Given the description of an element on the screen output the (x, y) to click on. 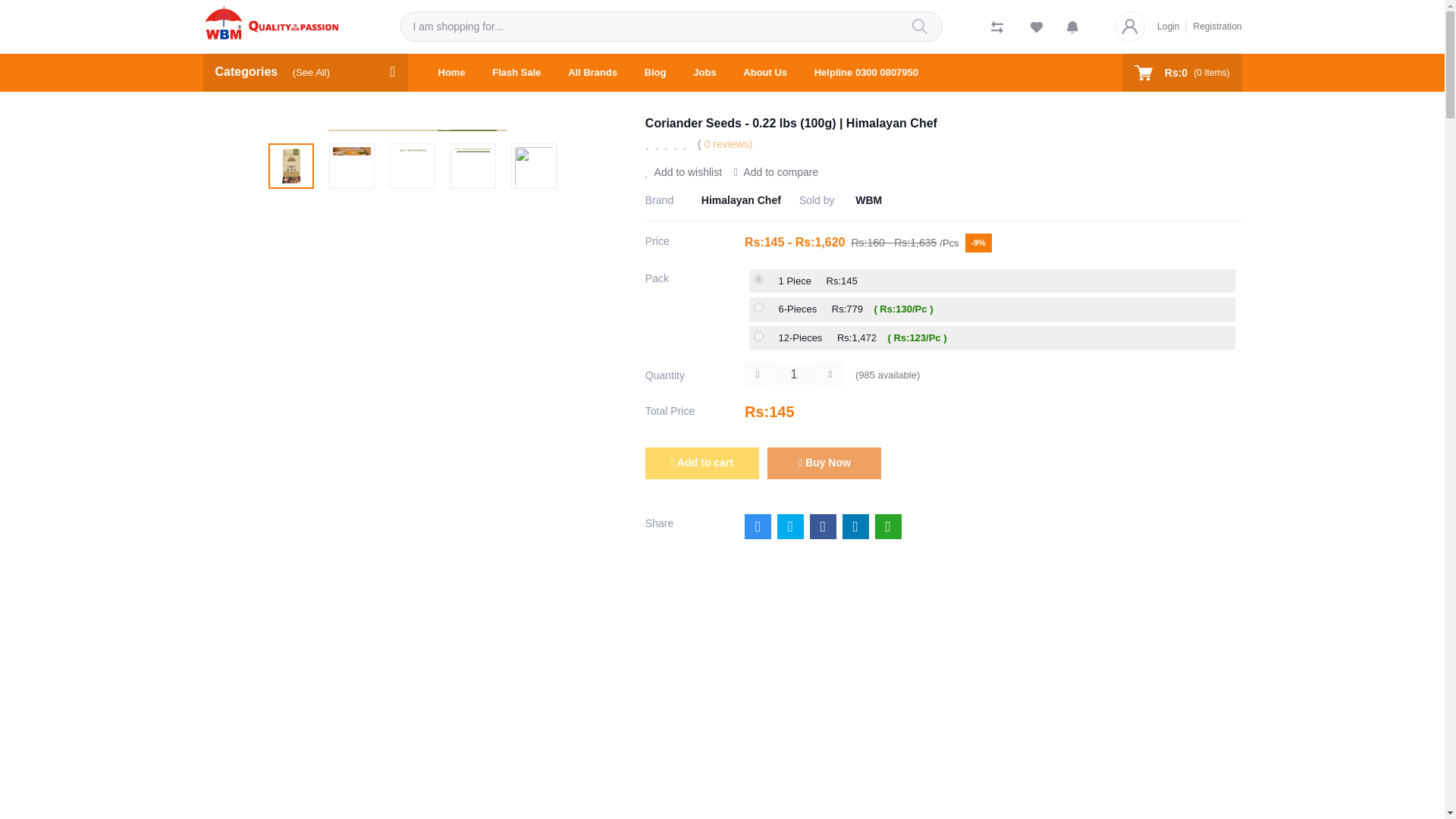
Blog (654, 72)
1 (793, 374)
All Brands (592, 72)
Flash Sale (516, 72)
1 Piece (758, 279)
About Us (764, 72)
Cart (1181, 72)
Home (451, 72)
Registration (1213, 26)
